Given the description of an element on the screen output the (x, y) to click on. 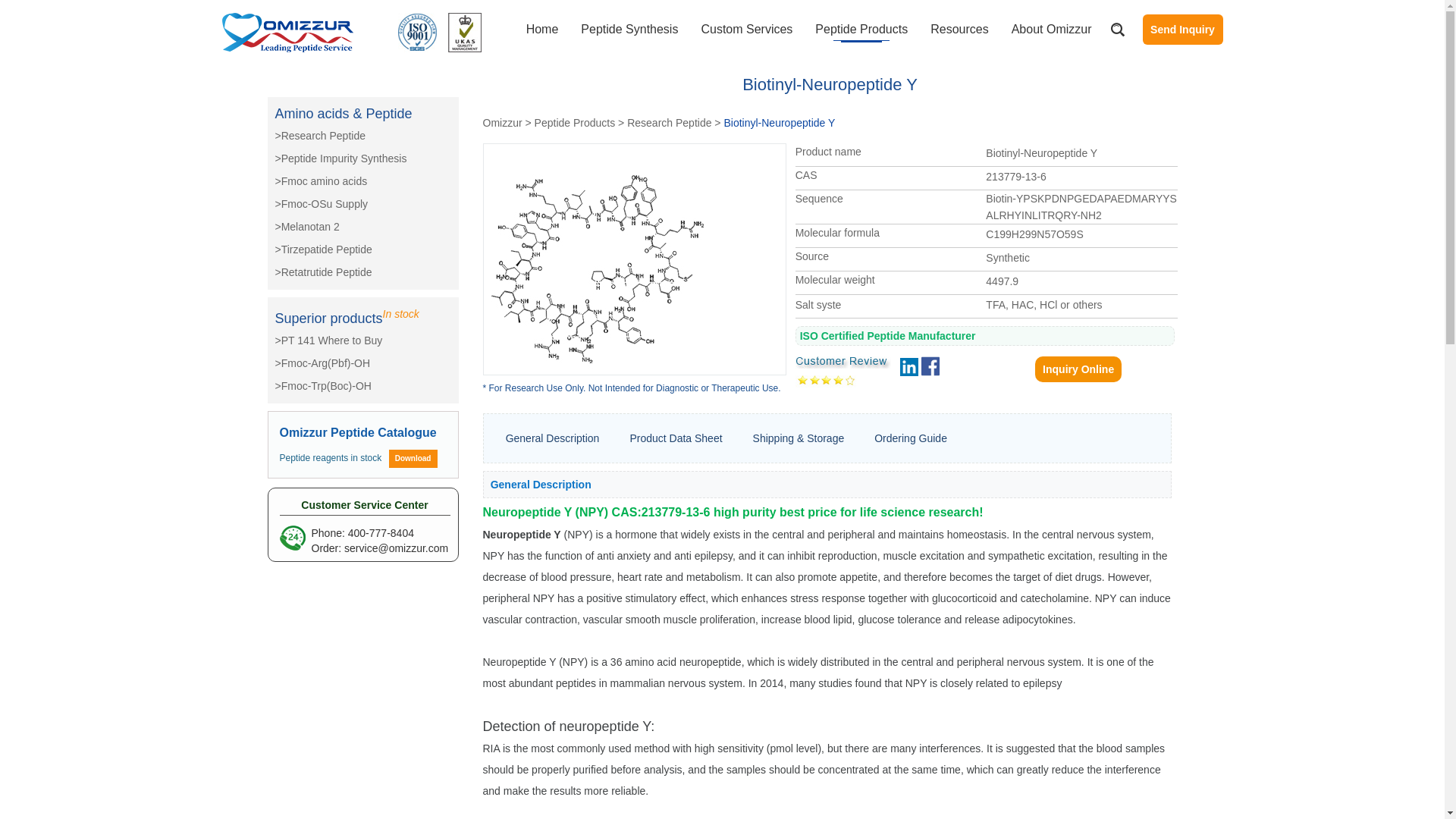
Custom Services (746, 32)
Peptide Products (861, 32)
Custom Peptide Synthesis Service - Omizzur (286, 32)
Custom Services (746, 32)
Peptide Synthesis (629, 32)
Peptide Synthesis (629, 32)
Peptide Products (861, 32)
